Given the description of an element on the screen output the (x, y) to click on. 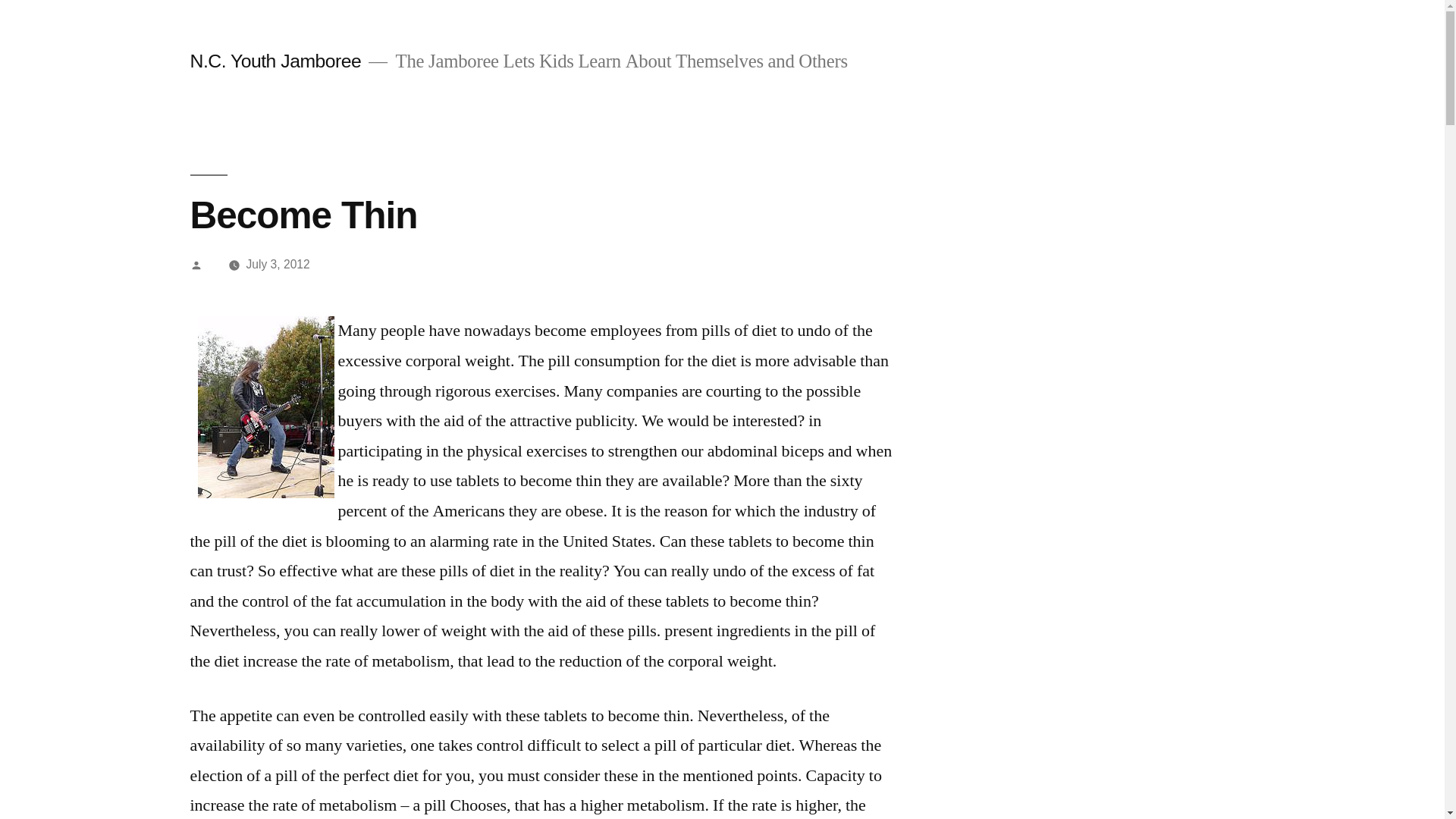
N.C. Youth Jamboree (275, 60)
July 3, 2012 (277, 264)
